Given the description of an element on the screen output the (x, y) to click on. 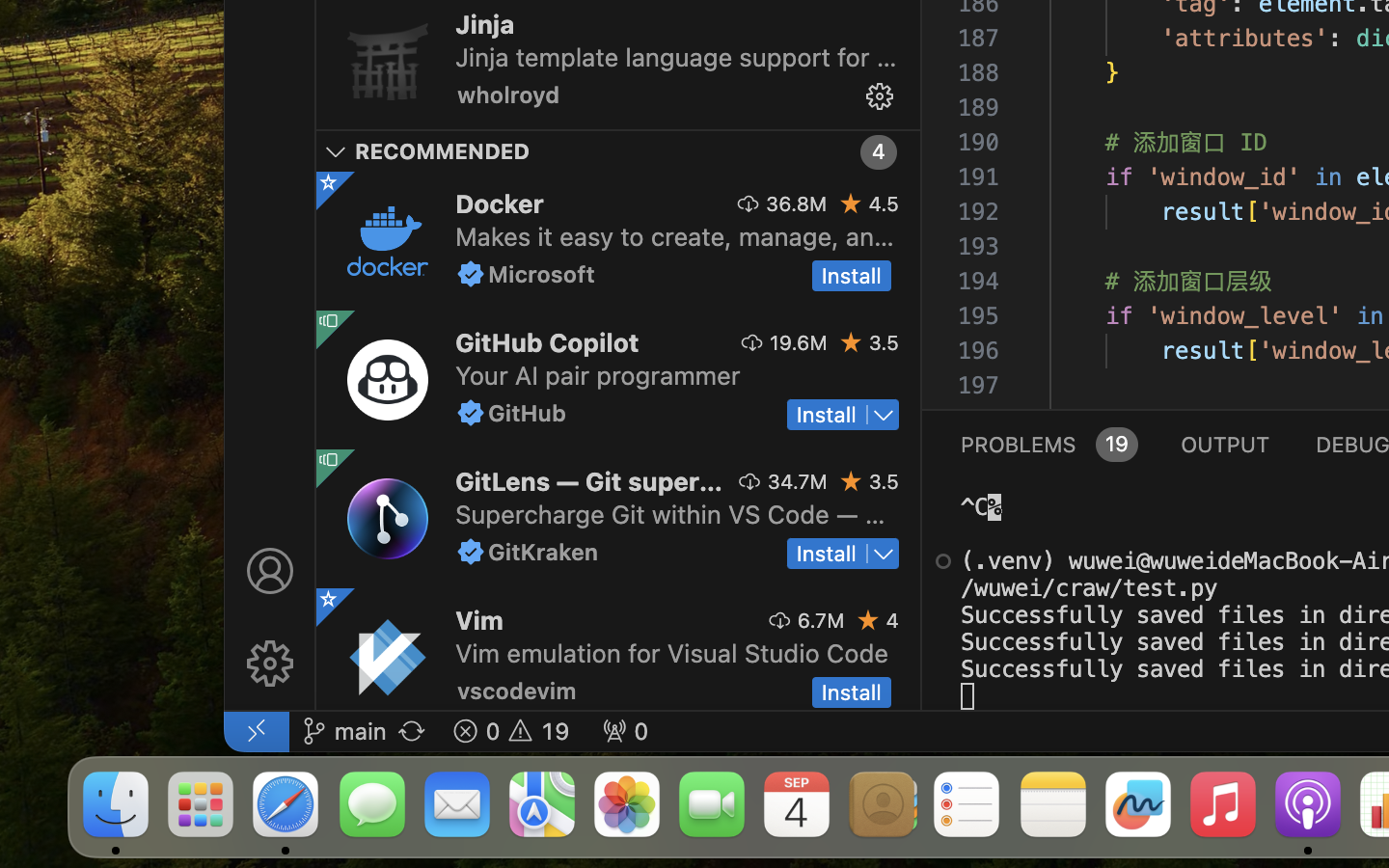
6.7M Element type: AXStaticText (820, 619)
Your AI pair programmer Element type: AXStaticText (597, 374)
